Given the description of an element on the screen output the (x, y) to click on. 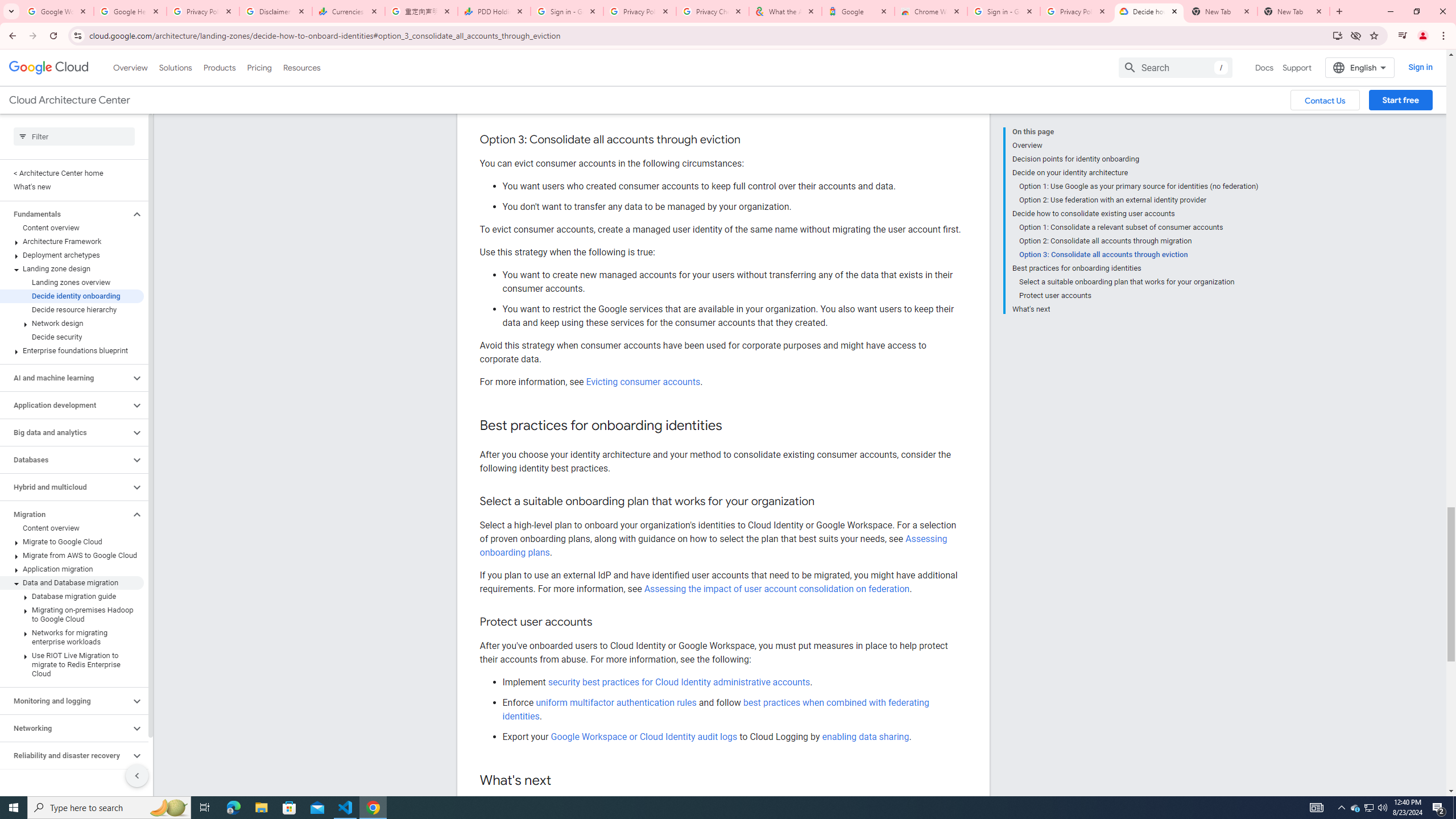
Decide resource hierarchy (72, 309)
Control your music, videos, and more (1402, 35)
Option 2: Use federation with an external identity provider (1138, 200)
Address and search bar (707, 35)
Privacy Checkup (712, 11)
Architecture Framework (72, 241)
Big data and analytics (64, 432)
Data and Database migration (72, 582)
Cloud Architecture Center (68, 100)
Use RIOT Live Migration to migrate to Redis Enterprise Cloud (72, 664)
